Given the description of an element on the screen output the (x, y) to click on. 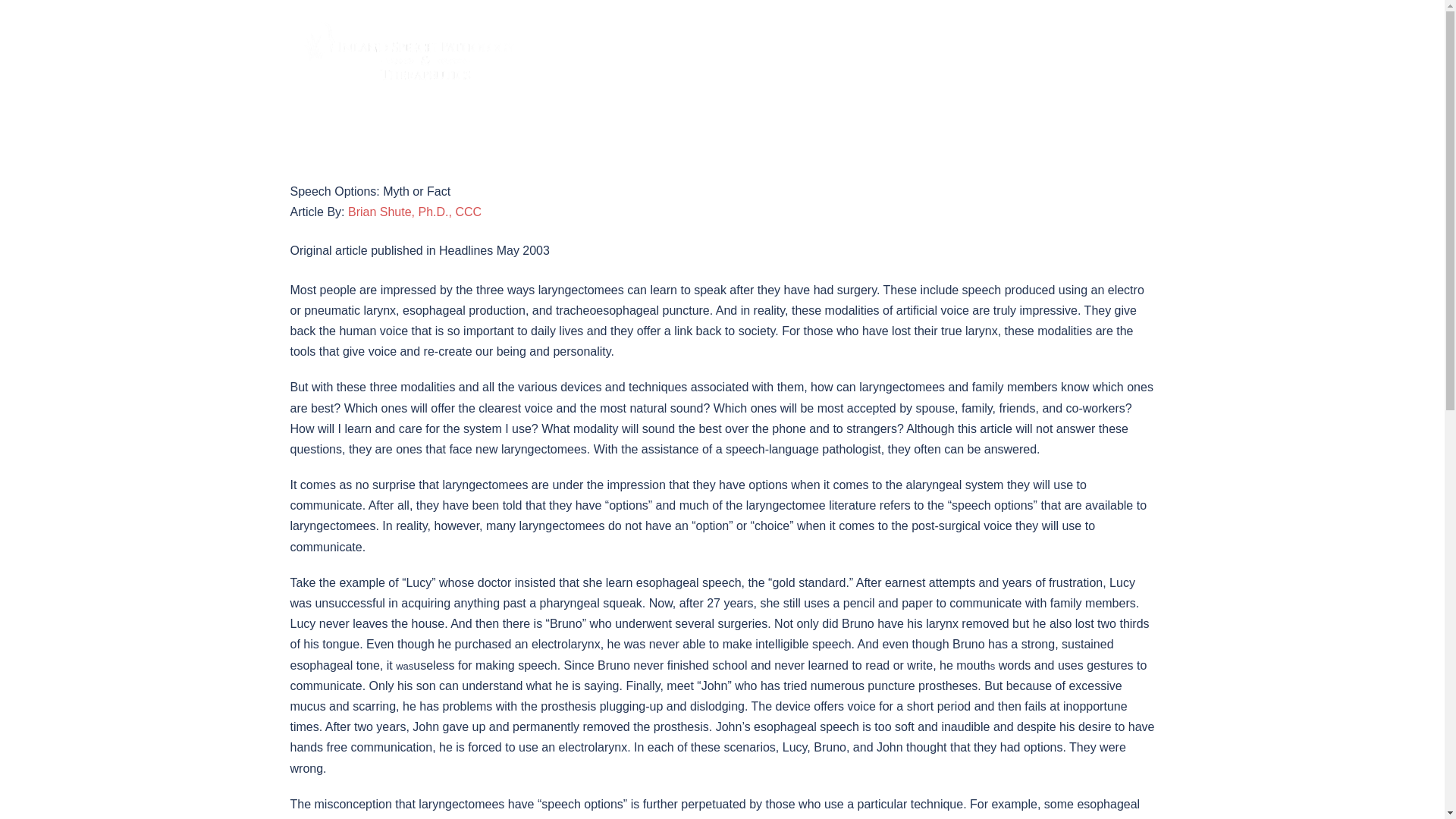
Book Appointment (1101, 53)
About Dr. Shute (702, 53)
Contact Us (1010, 53)
Home (628, 53)
Contact Dr. Shute (414, 211)
Inland Speech Pathology (405, 51)
Favorite Links (874, 53)
Testimonials (790, 53)
Brian Shute, Ph.D., CCC (414, 211)
Articles (945, 53)
